Given the description of an element on the screen output the (x, y) to click on. 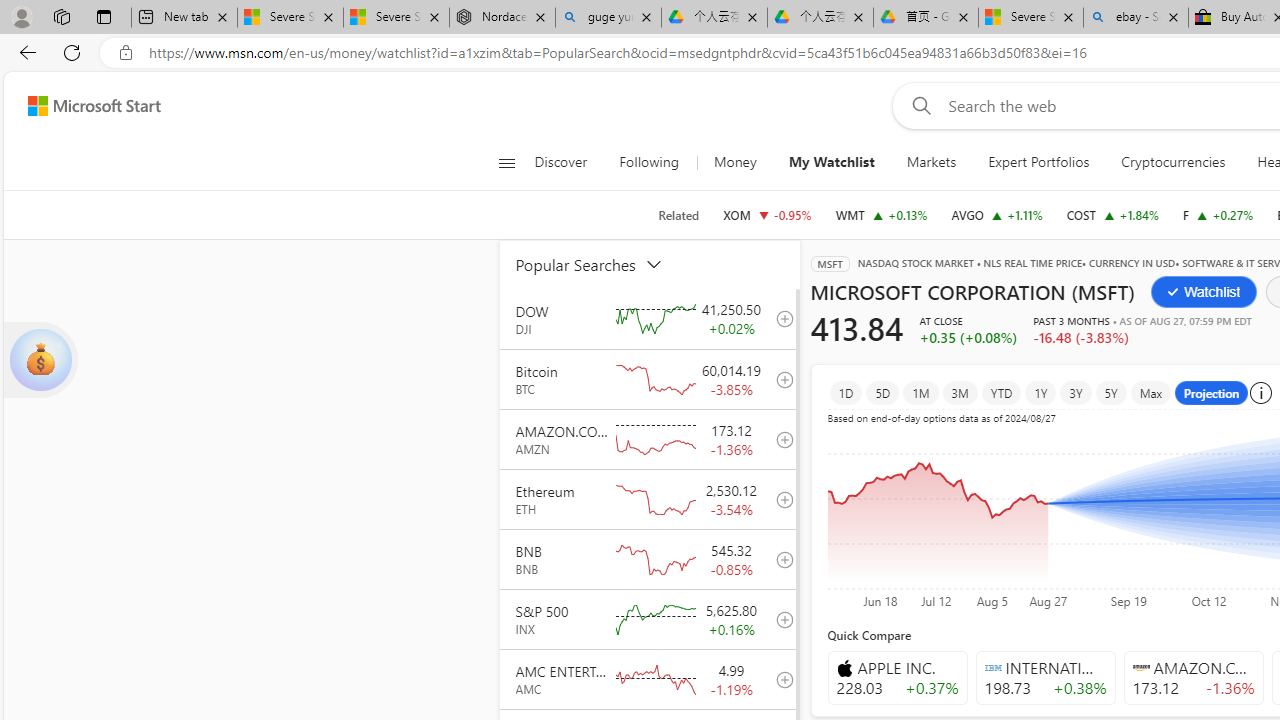
5D (882, 392)
1M (920, 392)
Markets (930, 162)
XOM EXXON MOBIL CORPORATION decrease 117.68 -1.13 -0.95% (767, 214)
show card (40, 359)
Personal Profile (21, 16)
Cryptocurrencies (1173, 162)
Tab actions menu (104, 16)
Popular Searches (601, 264)
Refresh (72, 52)
Markets (931, 162)
Workspaces (61, 16)
Back (24, 52)
My Watchlist (830, 162)
